Given the description of an element on the screen output the (x, y) to click on. 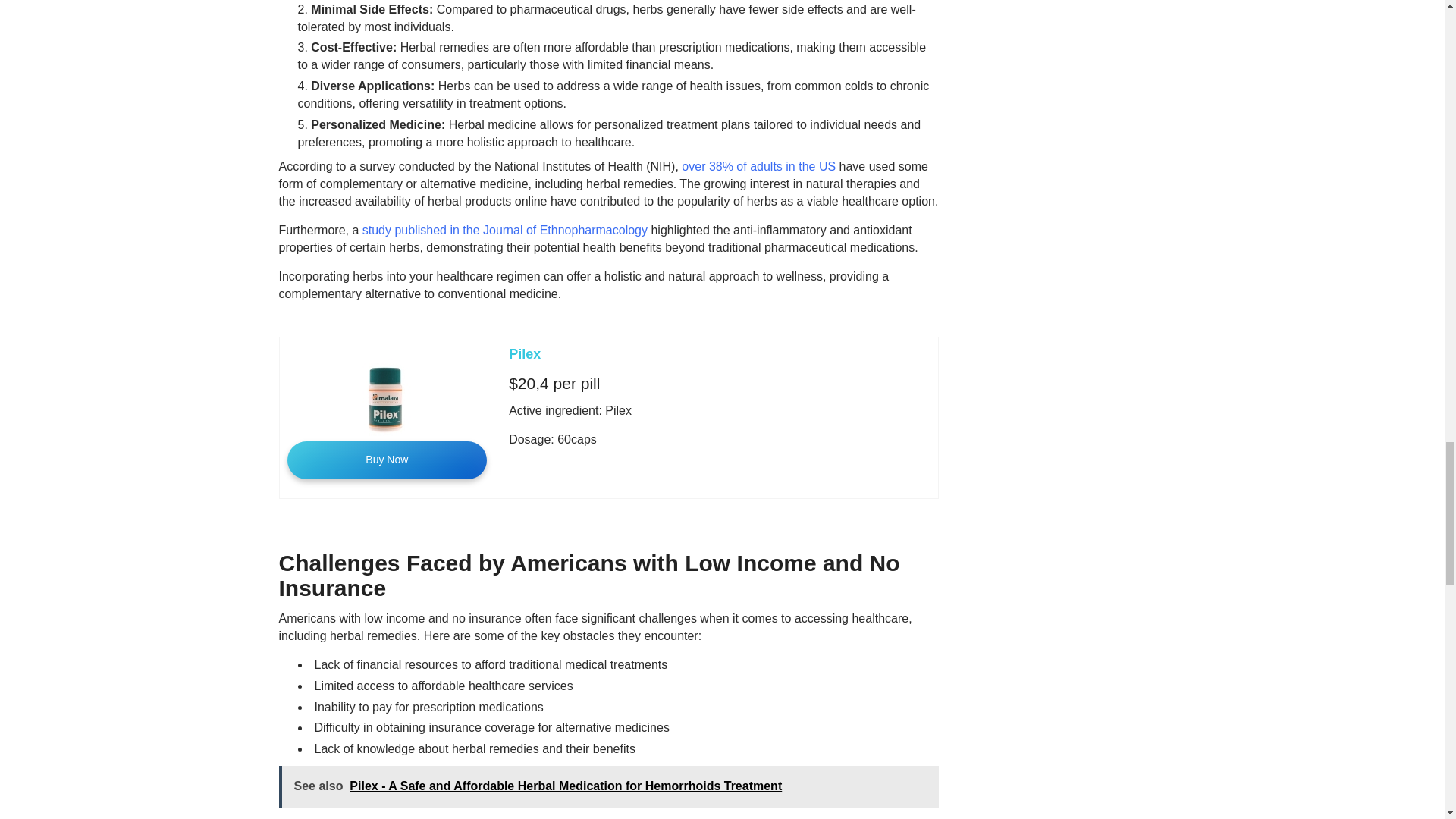
Buy Now (386, 460)
study published in the Journal of Ethnopharmacology (504, 229)
Buy Now (386, 460)
Pilex (524, 353)
Pilex (524, 353)
